Given the description of an element on the screen output the (x, y) to click on. 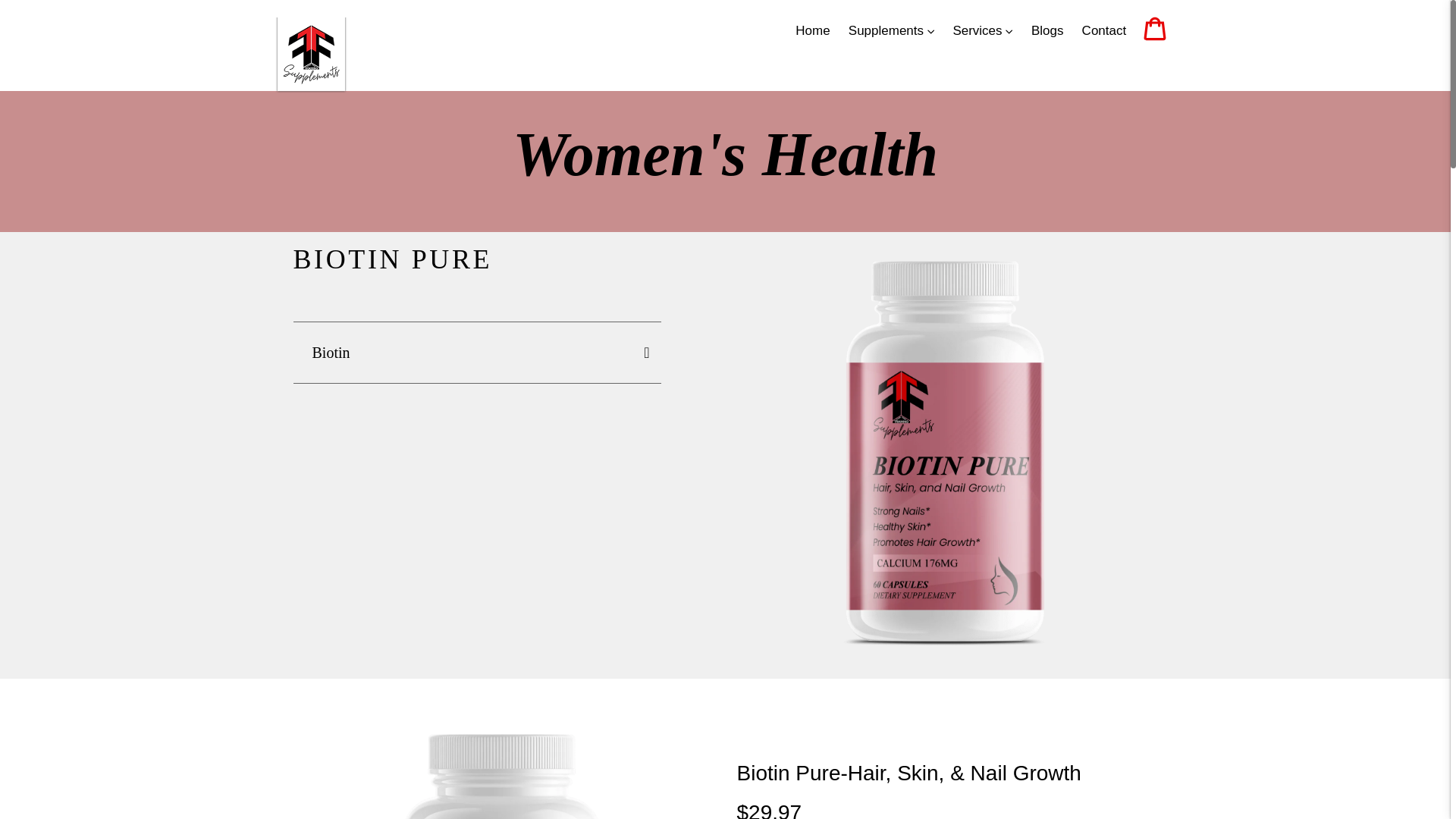
Contact (1104, 30)
Blogs (1047, 30)
Supplements (891, 30)
Services (982, 30)
Home (812, 30)
